Given the description of an element on the screen output the (x, y) to click on. 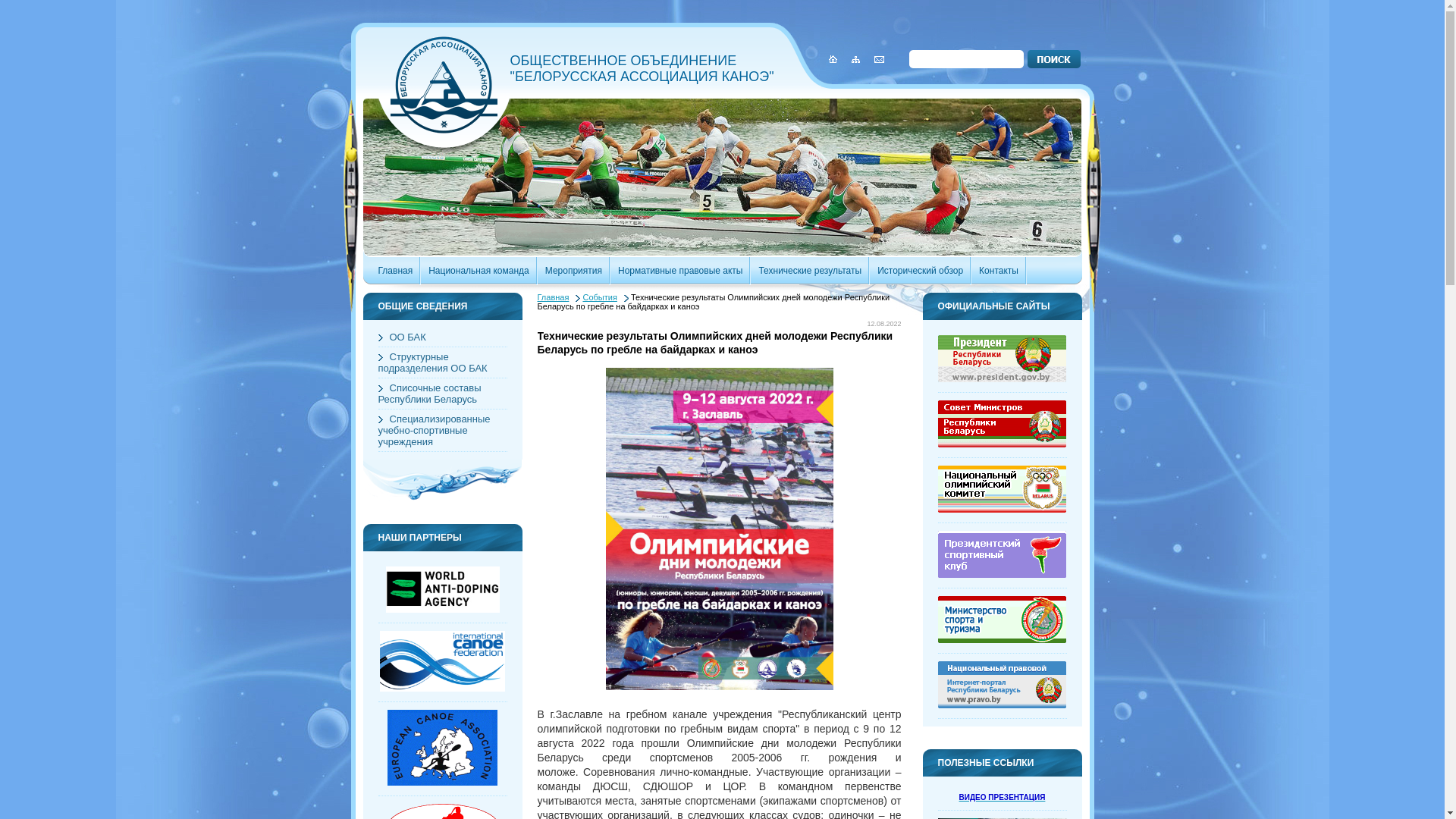
World Anti-Doping Agency Element type: hover (441, 609)
INTERNATIONAL CANOE FEDERATION Element type: hover (442, 688)
European Canoe Association Element type: hover (442, 782)
